Given the description of an element on the screen output the (x, y) to click on. 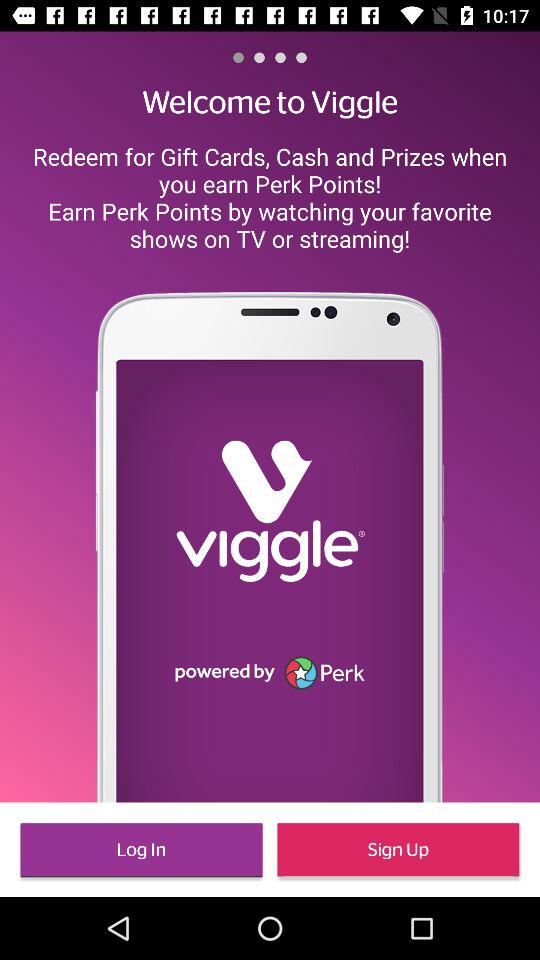
swipe to the sign up icon (398, 849)
